Given the description of an element on the screen output the (x, y) to click on. 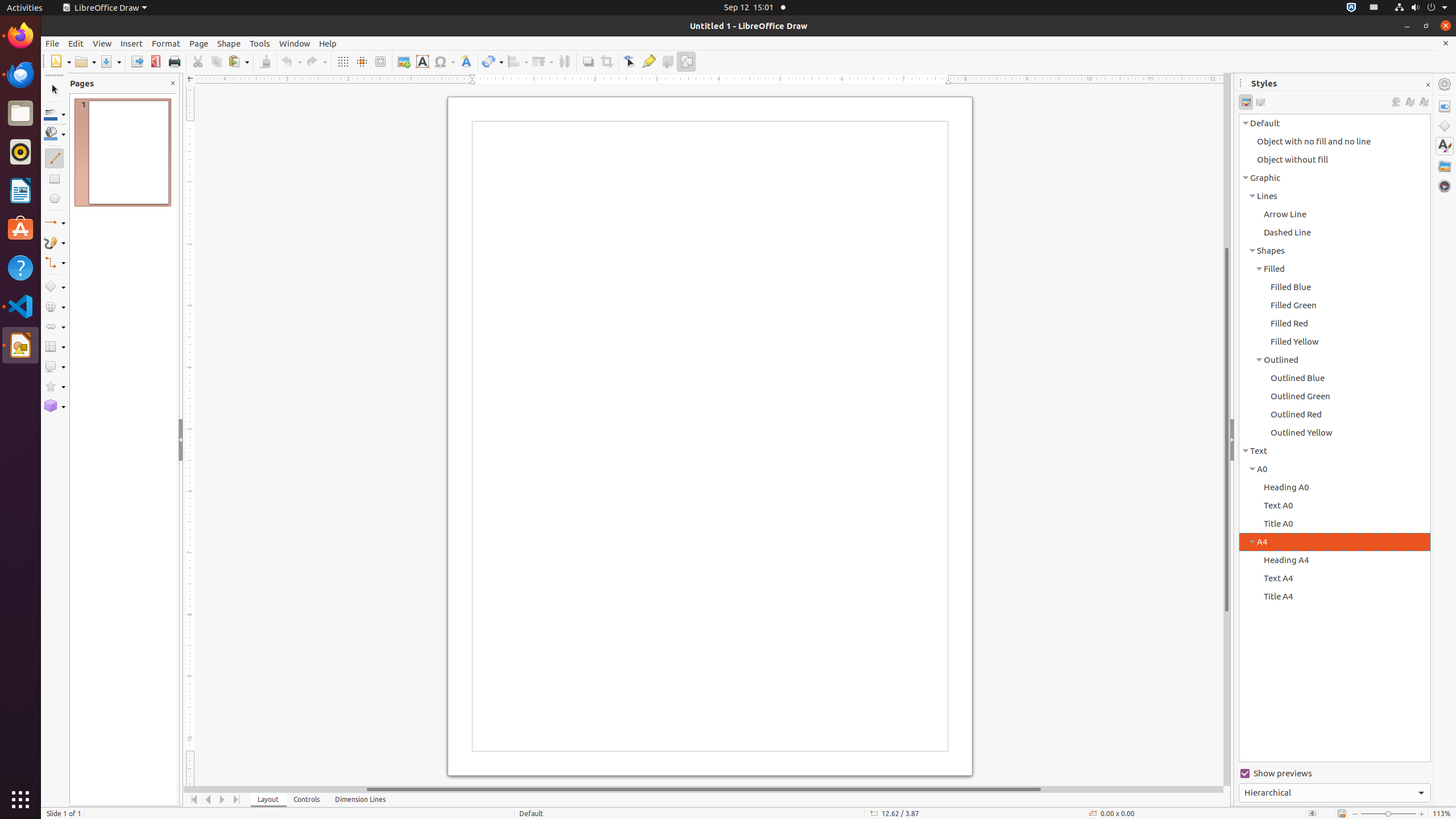
Draw Functions Element type: toggle-button (685, 61)
Show Applications Element type: toggle-button (20, 799)
Shadow Element type: toggle-button (587, 61)
LibreOffice Draw Element type: menu (103, 7)
